Given the description of an element on the screen output the (x, y) to click on. 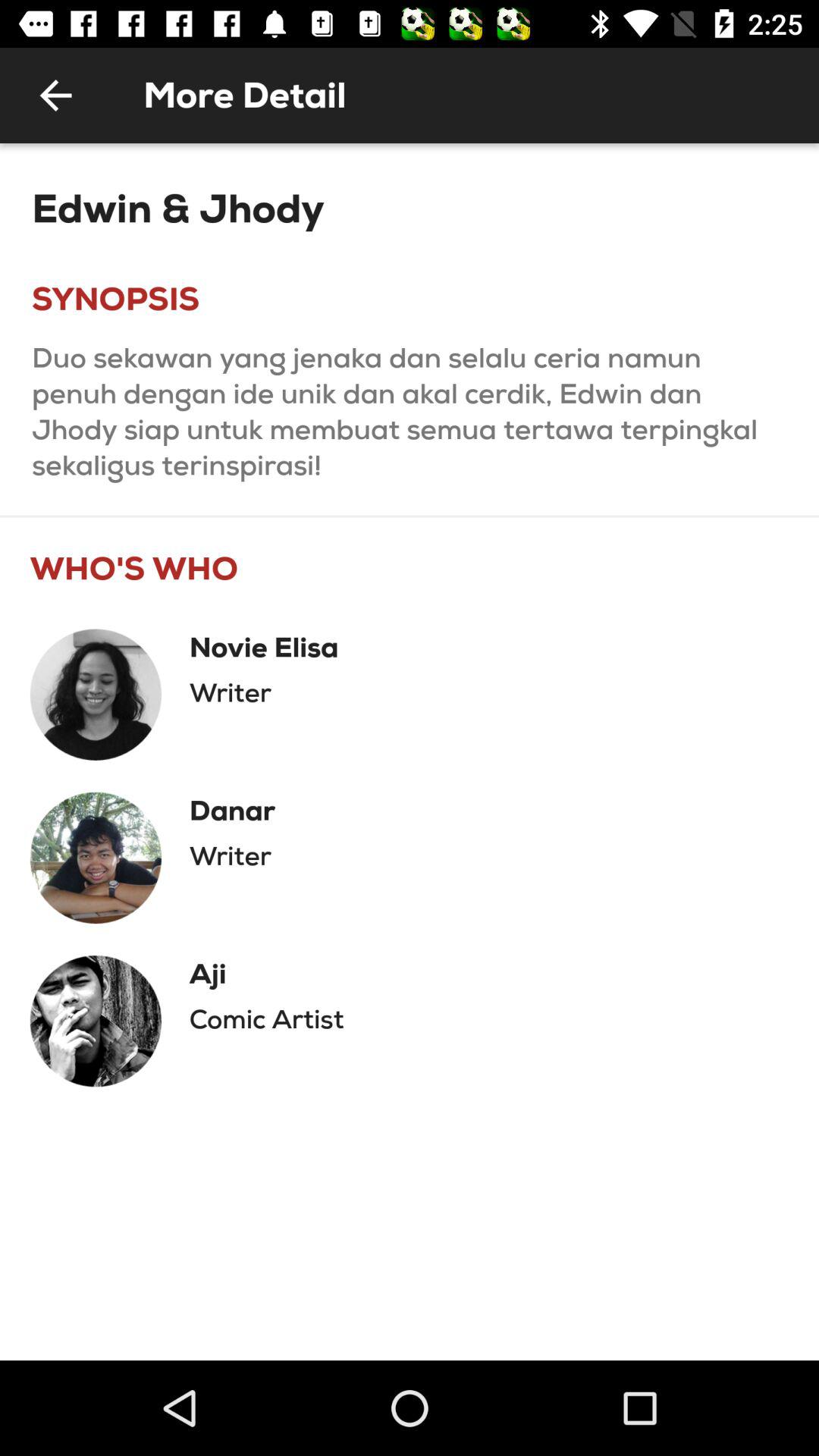
press the icon to the left of the more detail item (55, 95)
